Given the description of an element on the screen output the (x, y) to click on. 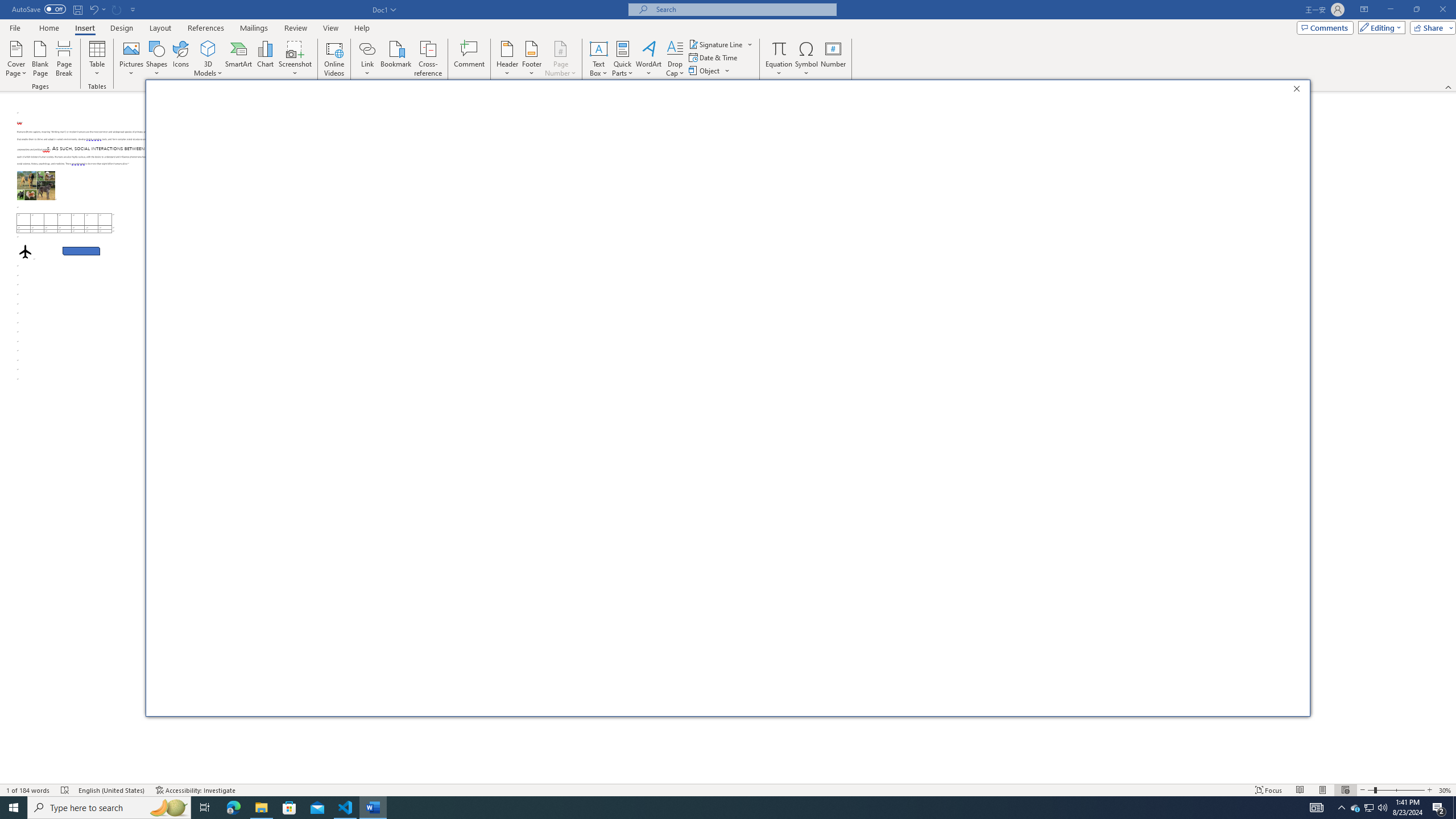
Pictures (131, 58)
Running applications (717, 807)
Header (507, 58)
Icons (180, 58)
Screenshot (295, 58)
Equation (778, 48)
Morphological variation in six dogs (36, 185)
Page Number (560, 58)
User Promoted Notification Area (1368, 807)
Type here to search (108, 807)
Language English (United States) (111, 790)
Stickers (326, 146)
